Given the description of an element on the screen output the (x, y) to click on. 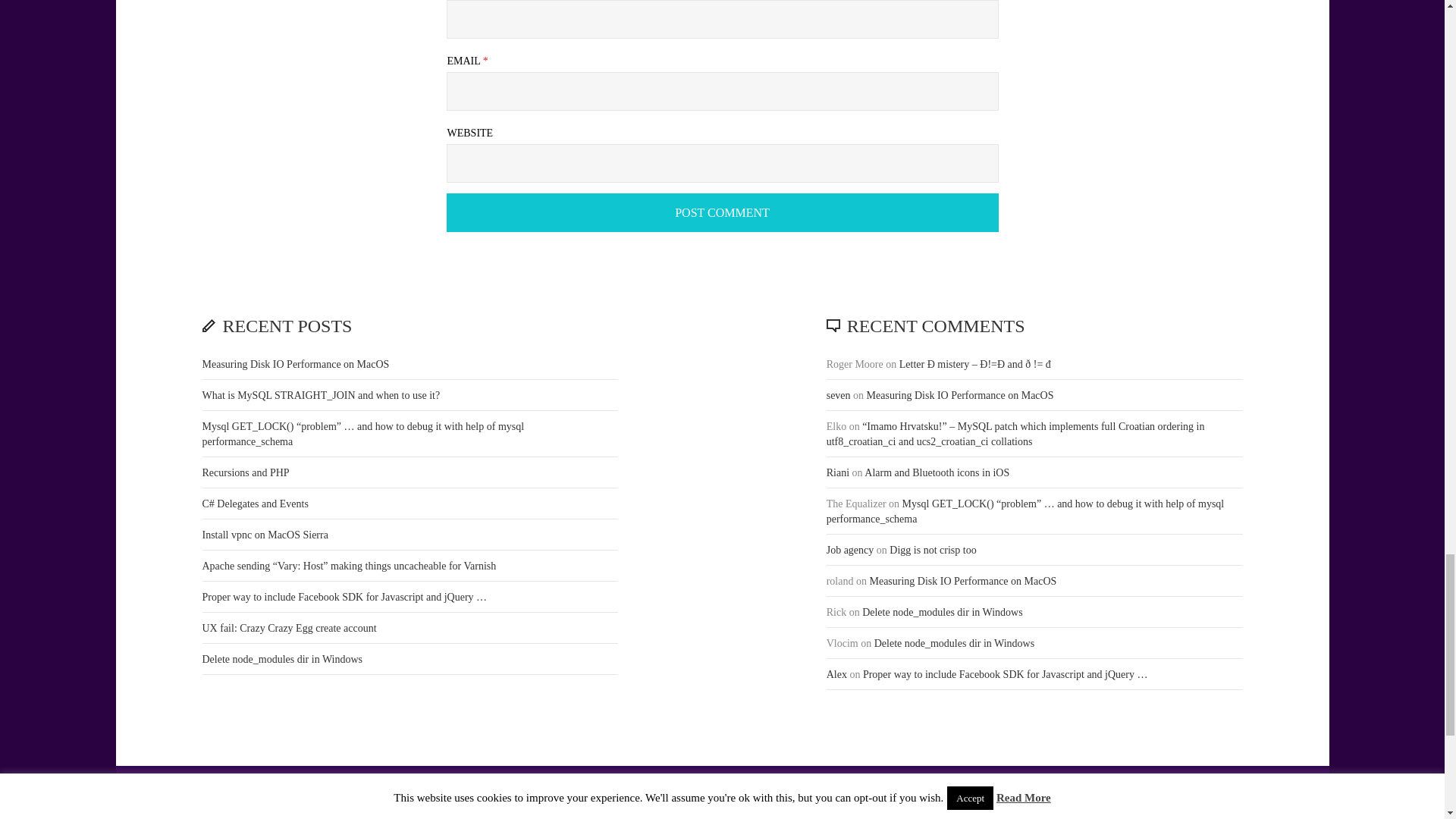
Install vpnc on MacOS Sierra (264, 534)
Recursions and PHP (245, 472)
Measuring Disk IO Performance on MacOS (960, 395)
Measuring Disk IO Performance on MacOS (295, 364)
seven (838, 395)
Post Comment (721, 212)
Post Comment (721, 212)
UX fail: Crazy Crazy Egg create account (288, 627)
